Given the description of an element on the screen output the (x, y) to click on. 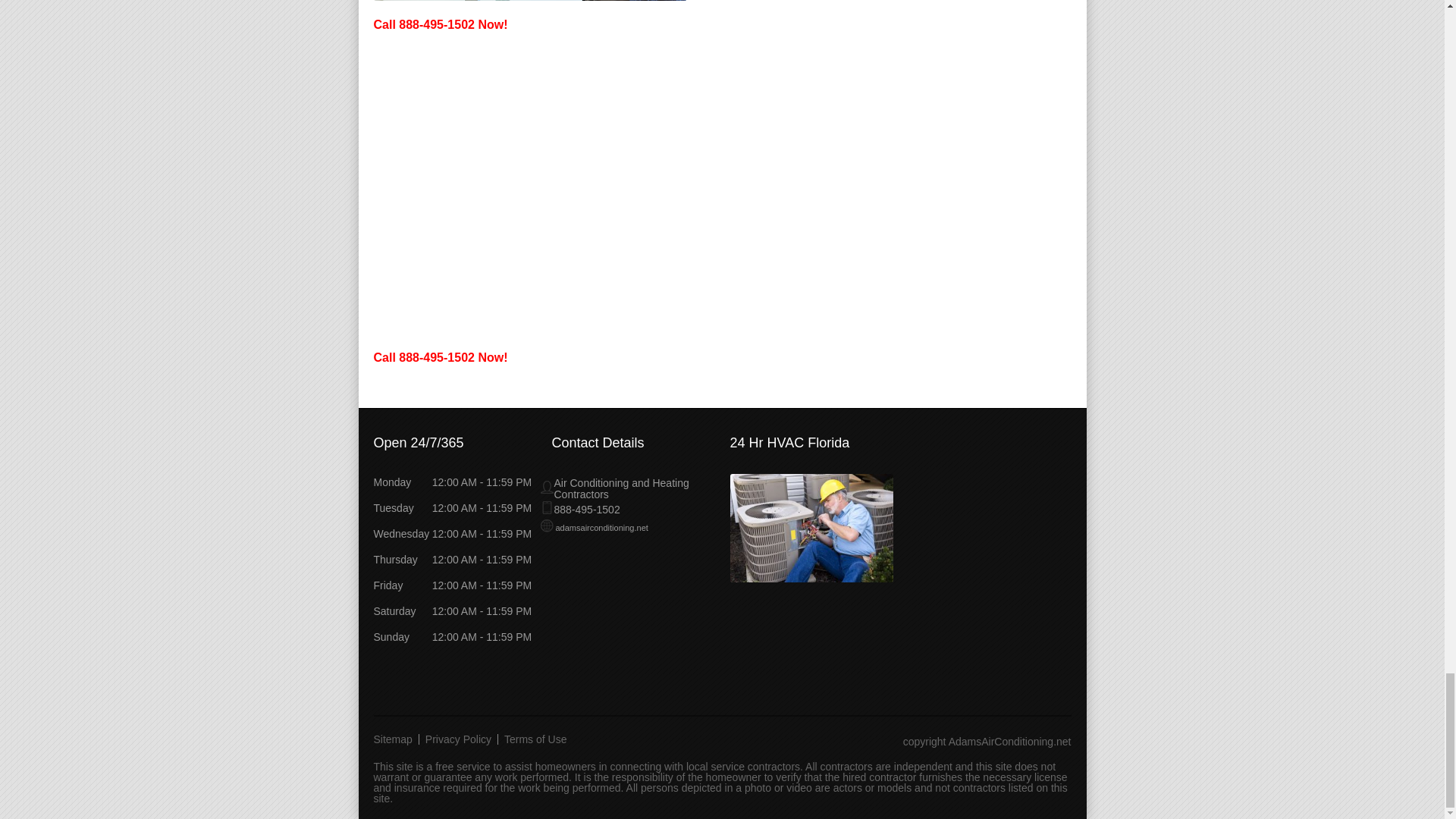
Privacy Policy (458, 738)
Call 888-495-1502 Now! (439, 357)
Sitemap (395, 738)
adamsairconditioning.net (593, 526)
Terms of Use (534, 738)
Call 888-495-1502 Now! (439, 23)
